Given the description of an element on the screen output the (x, y) to click on. 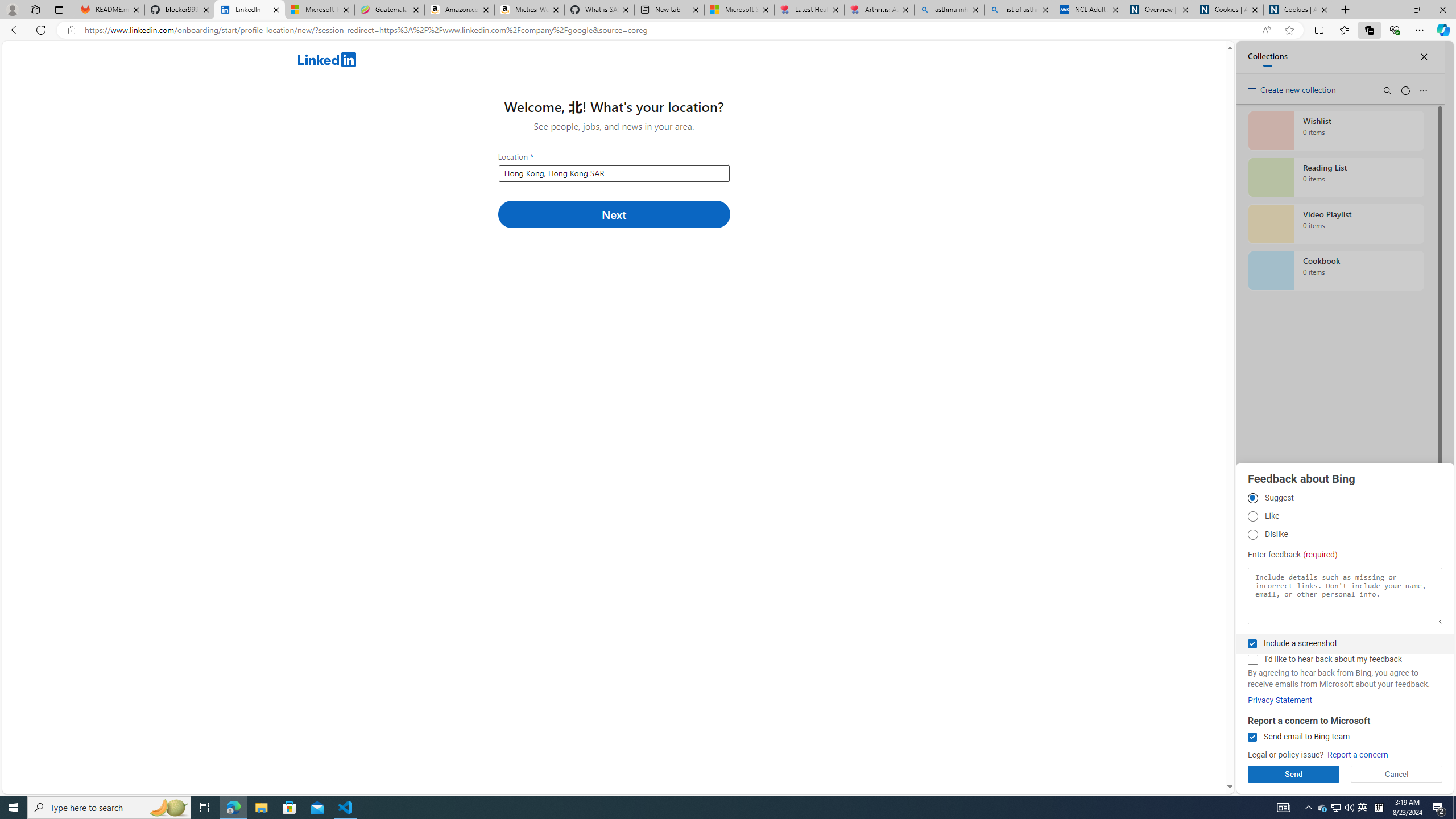
LinkedIn (249, 9)
Privacy Statement (1280, 700)
Arthritis: Ask Health Professionals (879, 9)
asthma inhaler - Search (949, 9)
